Given the description of an element on the screen output the (x, y) to click on. 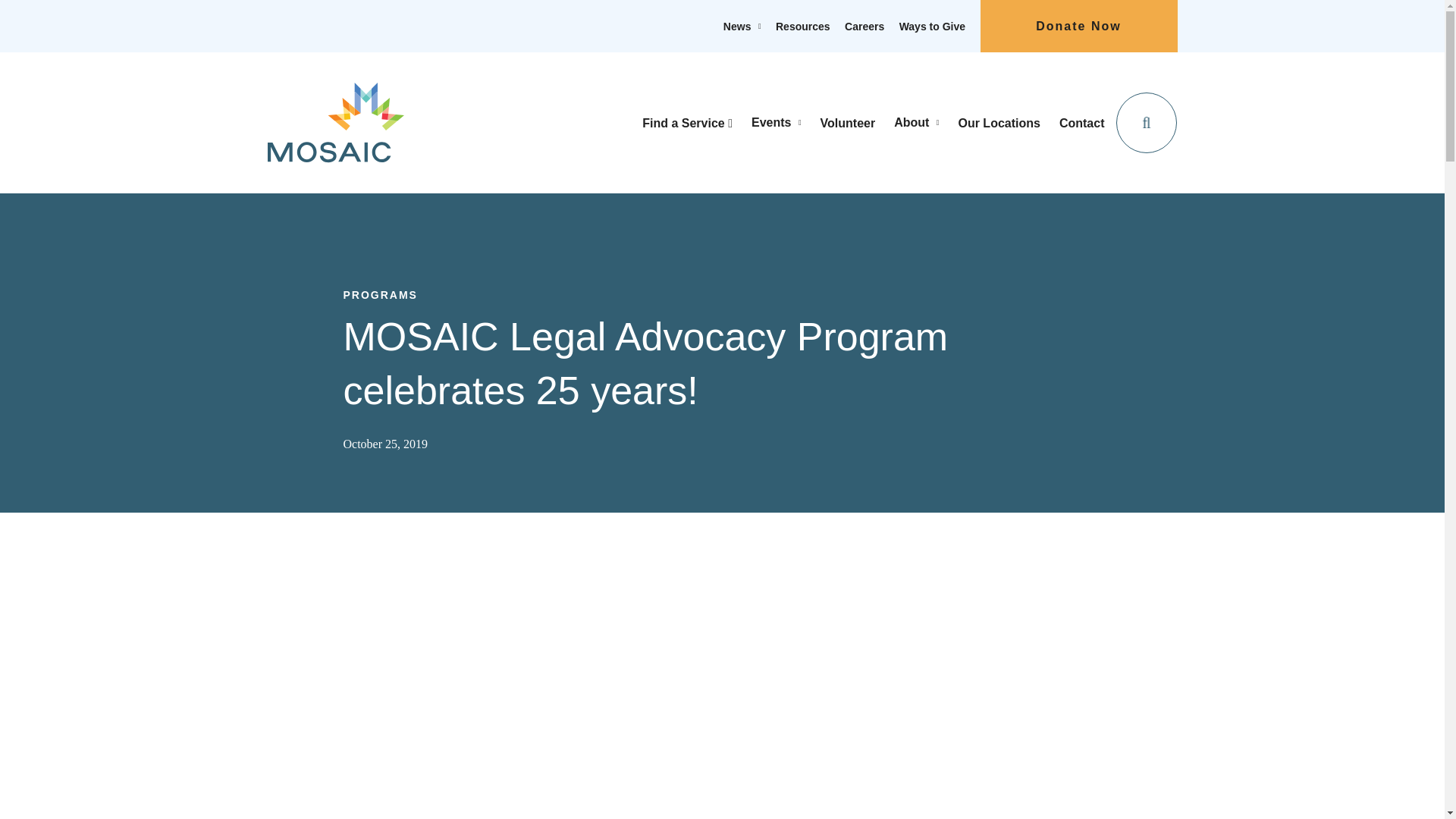
Donate Now (1078, 25)
Volunteer (848, 123)
Find a Service (687, 123)
Careers (863, 26)
Ways to Give (932, 26)
Our Locations (998, 123)
Events (770, 121)
News (737, 26)
Contact (1082, 123)
Resources (802, 26)
